Given the description of an element on the screen output the (x, y) to click on. 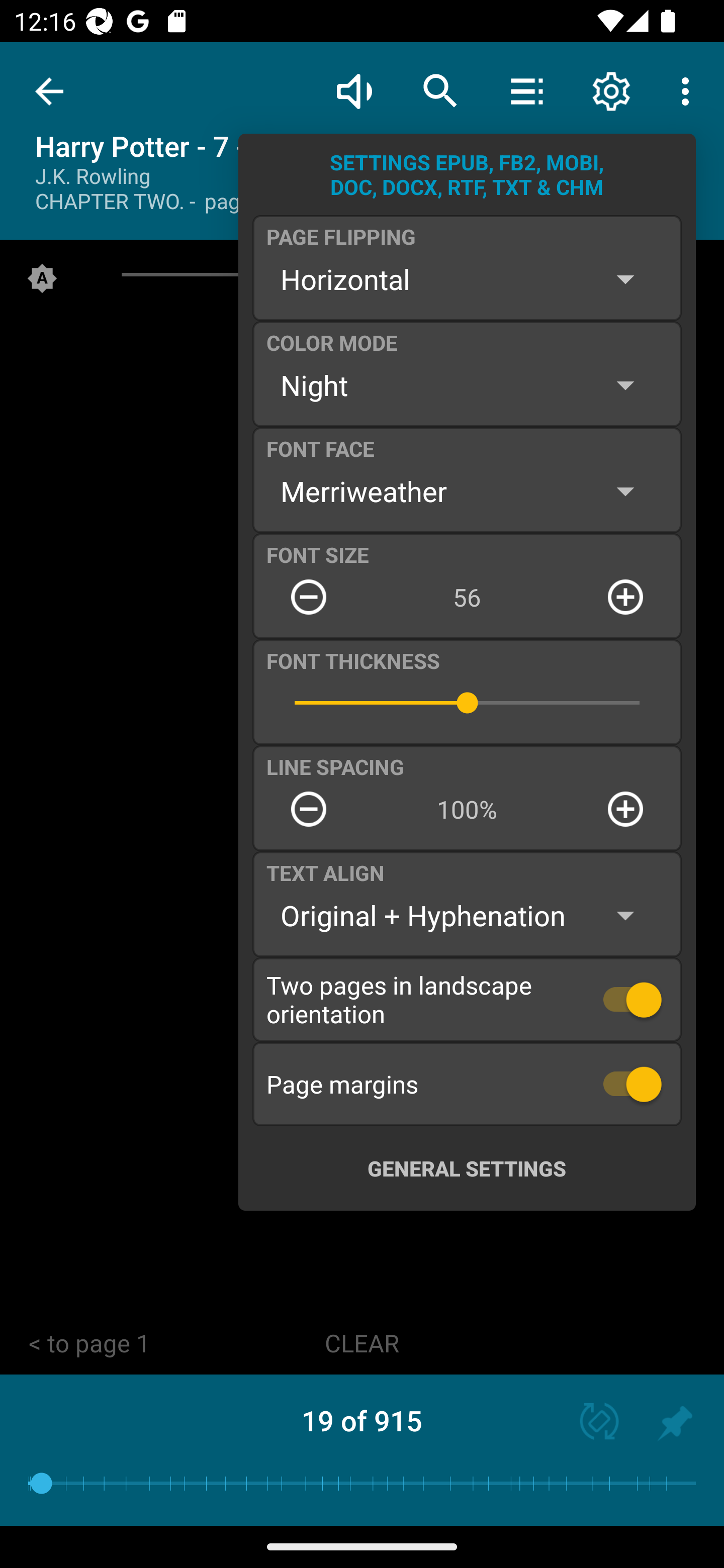
Horizontal (466, 278)
Night (466, 384)
Merriweather (466, 490)
Original + Hyphenation (466, 915)
Two pages in landscape orientation (467, 999)
Page margins (467, 1083)
GENERAL SETTINGS (466, 1167)
